Given the description of an element on the screen output the (x, y) to click on. 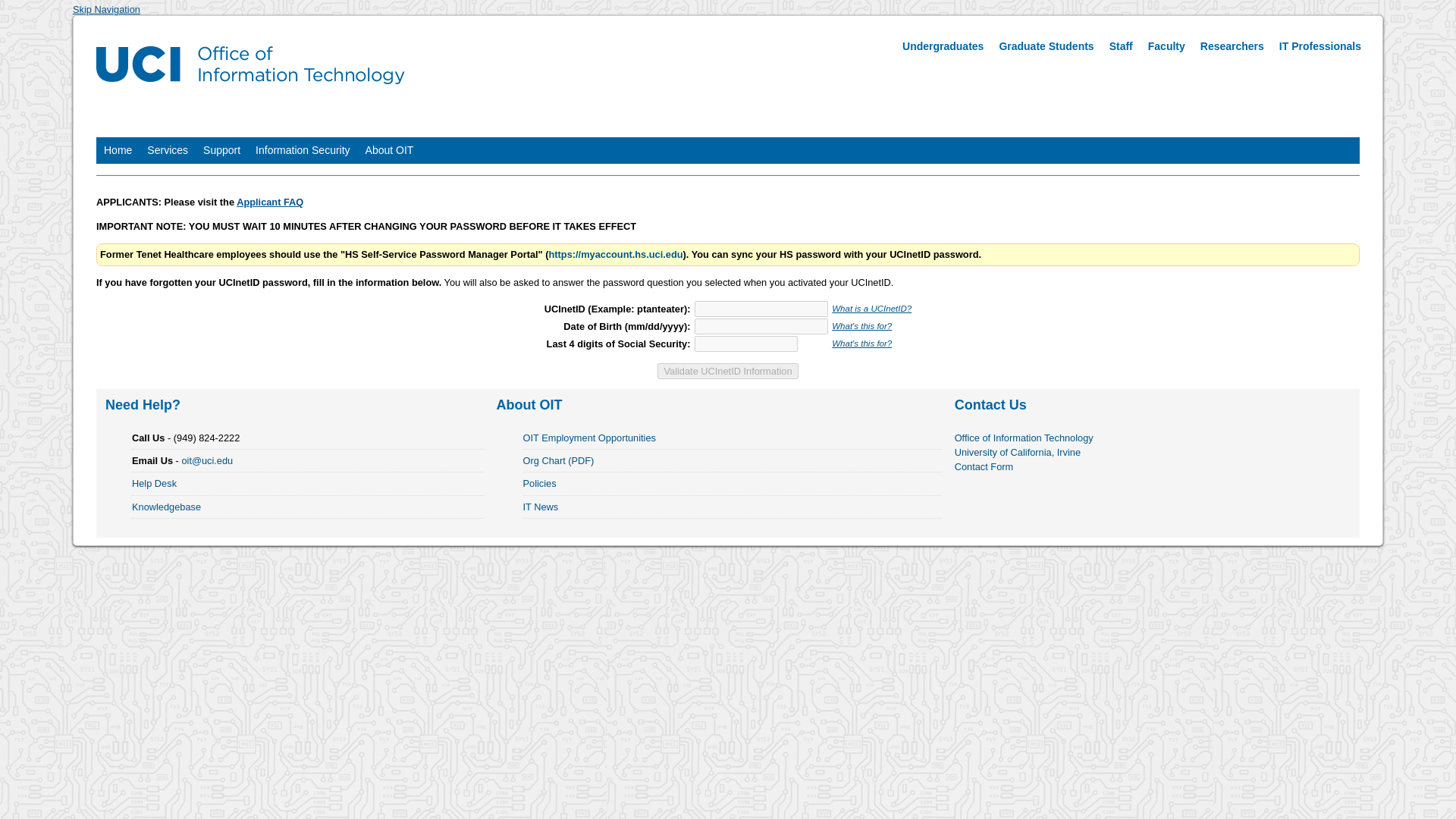
Validate UCInetID Information (727, 371)
Skip Navigation (105, 9)
Services (167, 150)
Information Security (302, 150)
About OIT (390, 150)
Applicant FAQ (268, 202)
Home (117, 150)
Support (221, 150)
Undergraduates (943, 46)
Researchers (1231, 46)
Staff (1121, 46)
Graduate Students (1045, 46)
Faculty (1166, 46)
